Given the description of an element on the screen output the (x, y) to click on. 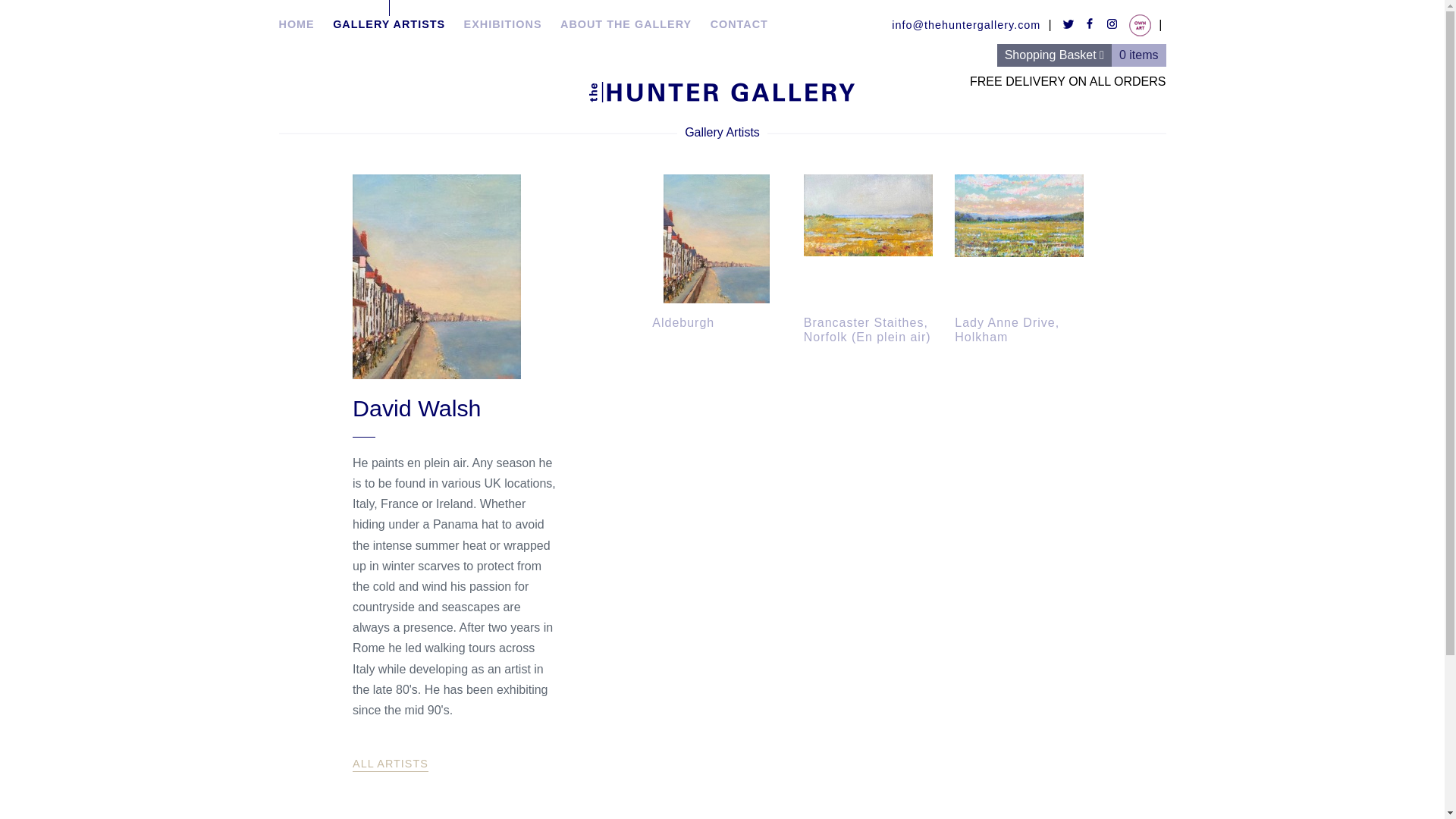
EXHIBITIONS (502, 15)
HOME (296, 15)
ABOUT THE GALLERY (625, 15)
GALLERY ARTISTS (389, 15)
CONTACT (739, 15)
ALL ARTISTS (390, 764)
